Given the description of an element on the screen output the (x, y) to click on. 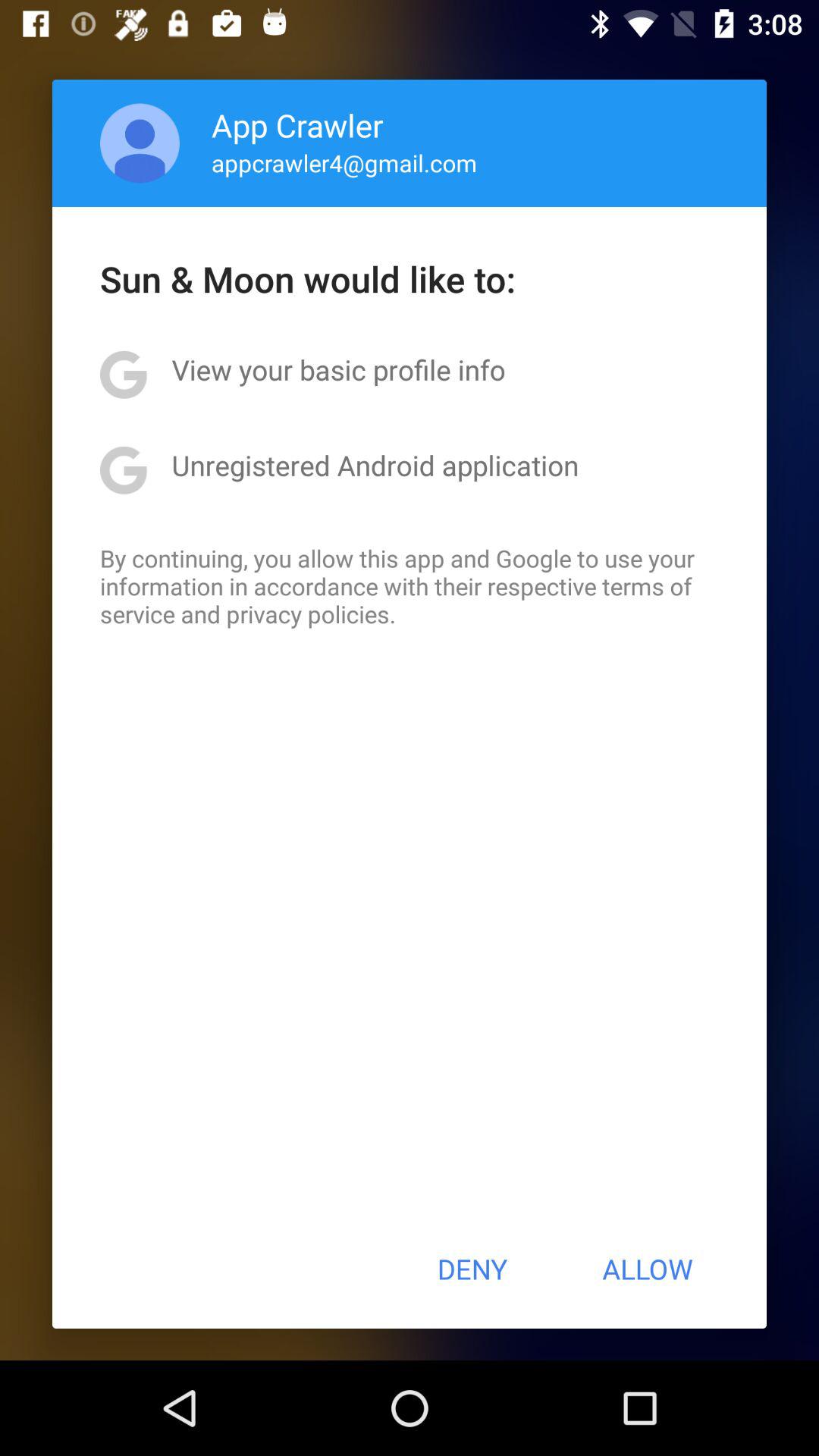
choose the appcrawler4@gmail.com app (344, 162)
